Given the description of an element on the screen output the (x, y) to click on. 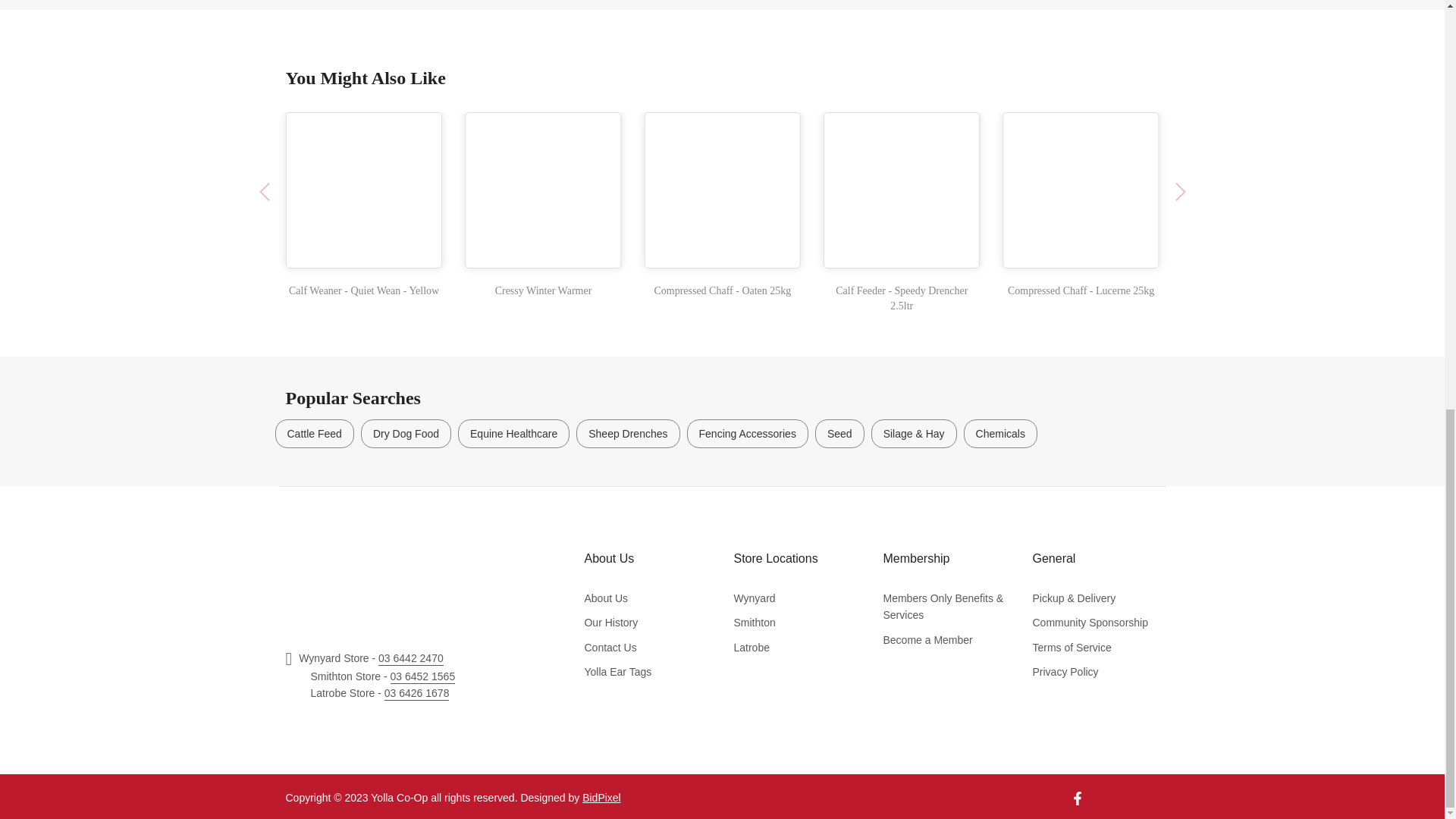
Yolla Co-op Latrobe Phone (416, 694)
Yolla Co-op Smithton Phone (422, 676)
Yolla Co-op Wynyard Phone (411, 658)
